Given the description of an element on the screen output the (x, y) to click on. 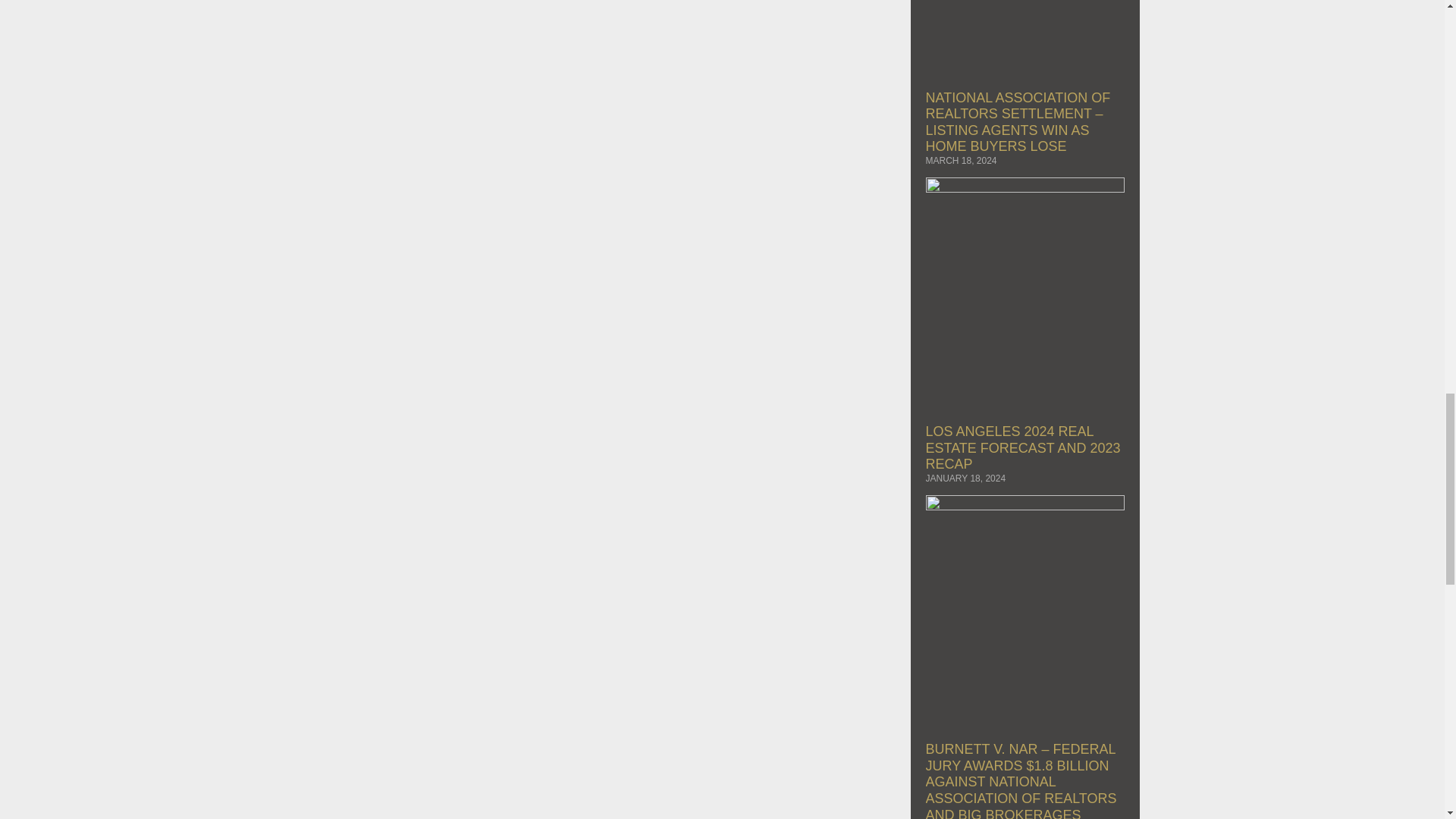
LOS ANGELES 2024 REAL ESTATE FORECAST AND 2023 RECAP (1021, 447)
